Given the description of an element on the screen output the (x, y) to click on. 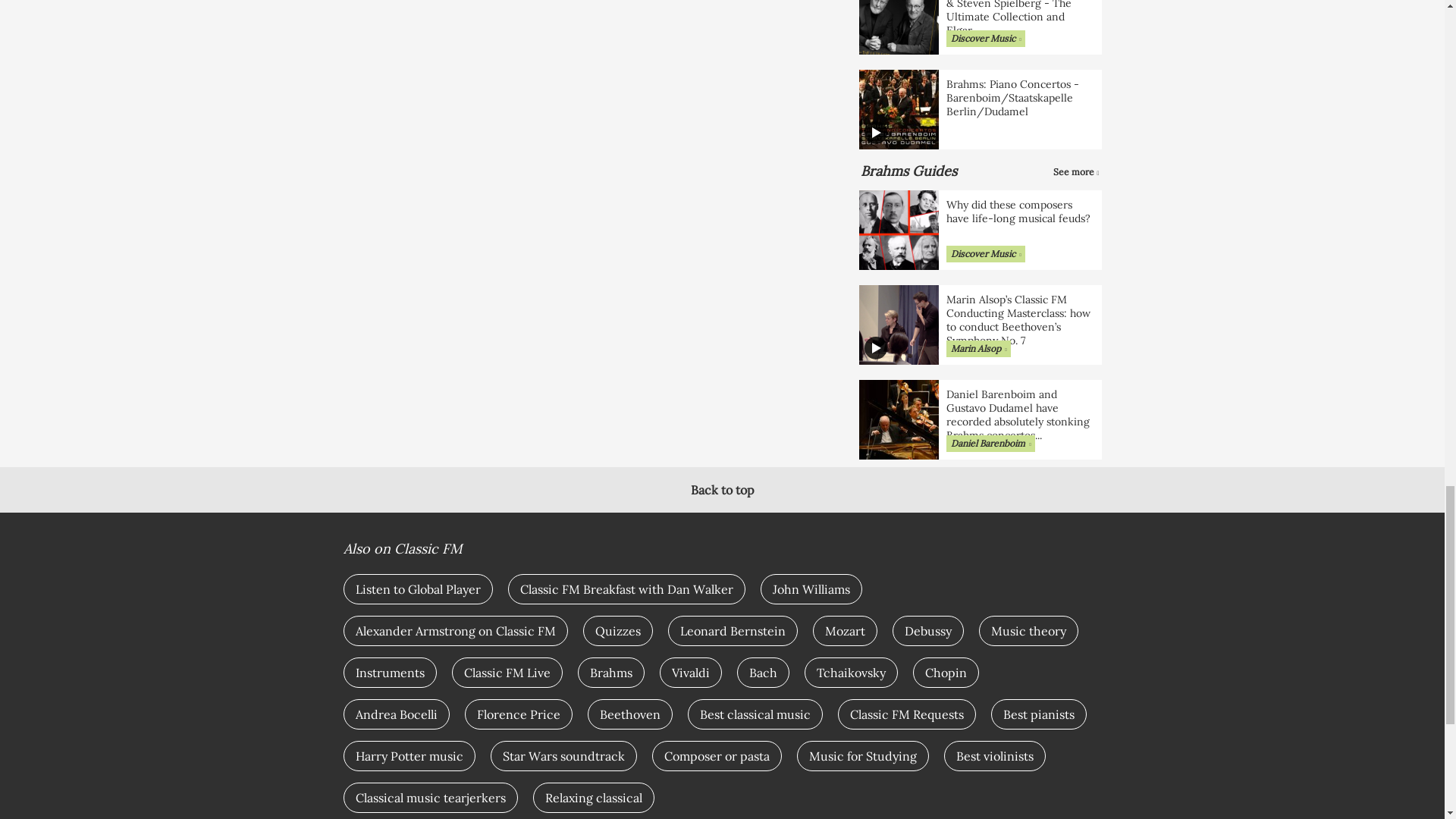
Back to top (722, 489)
